Given the description of an element on the screen output the (x, y) to click on. 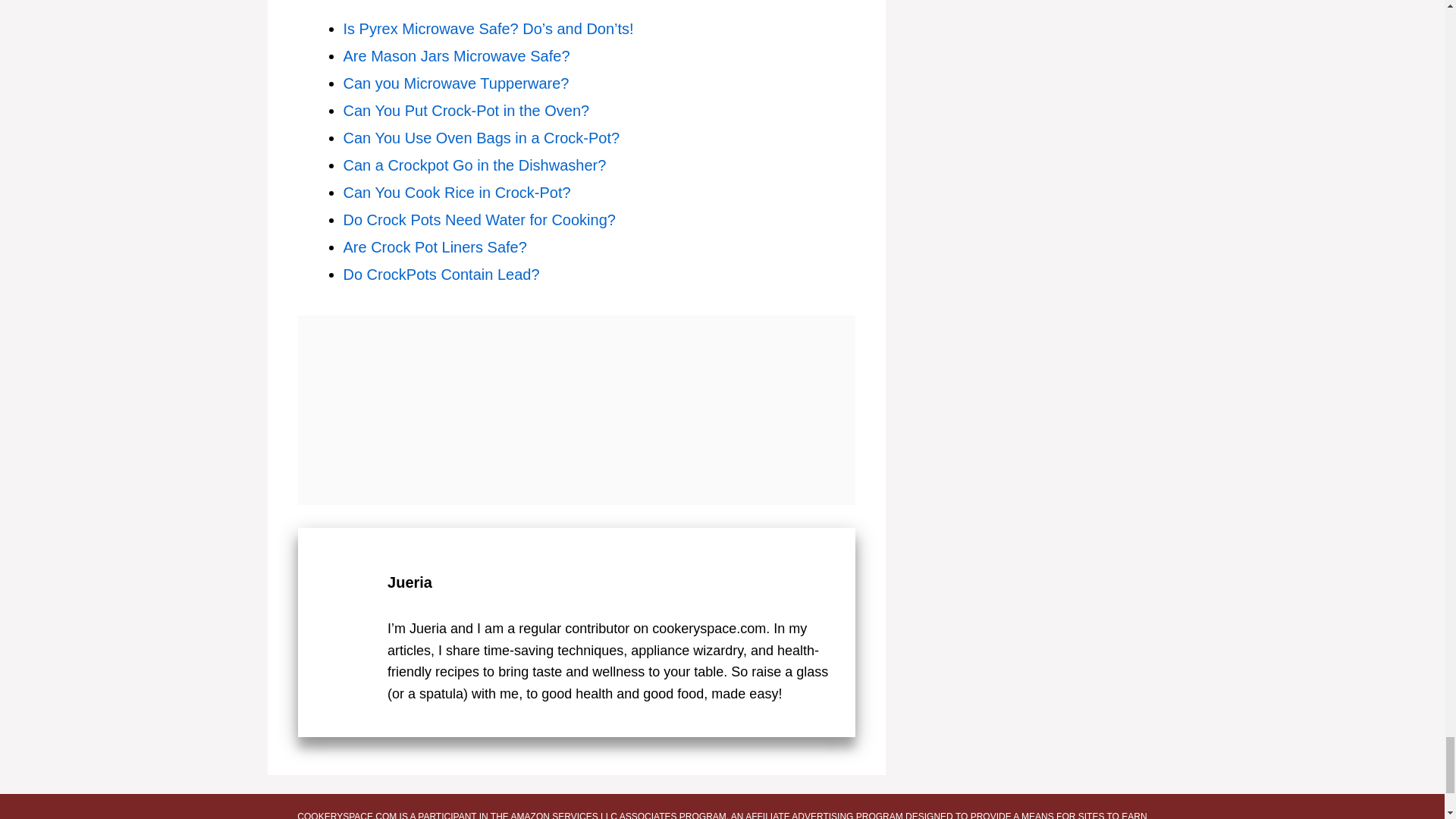
Are Mason Jars Microwave Safe? (455, 55)
Can you Microwave Tupperware? (455, 83)
Can You Use Oven Bags in a Crock-Pot? (481, 137)
Can a Crockpot Go in the Dishwasher? (473, 165)
Can You Put Crock-Pot in the Oven? (465, 110)
